Given the description of an element on the screen output the (x, y) to click on. 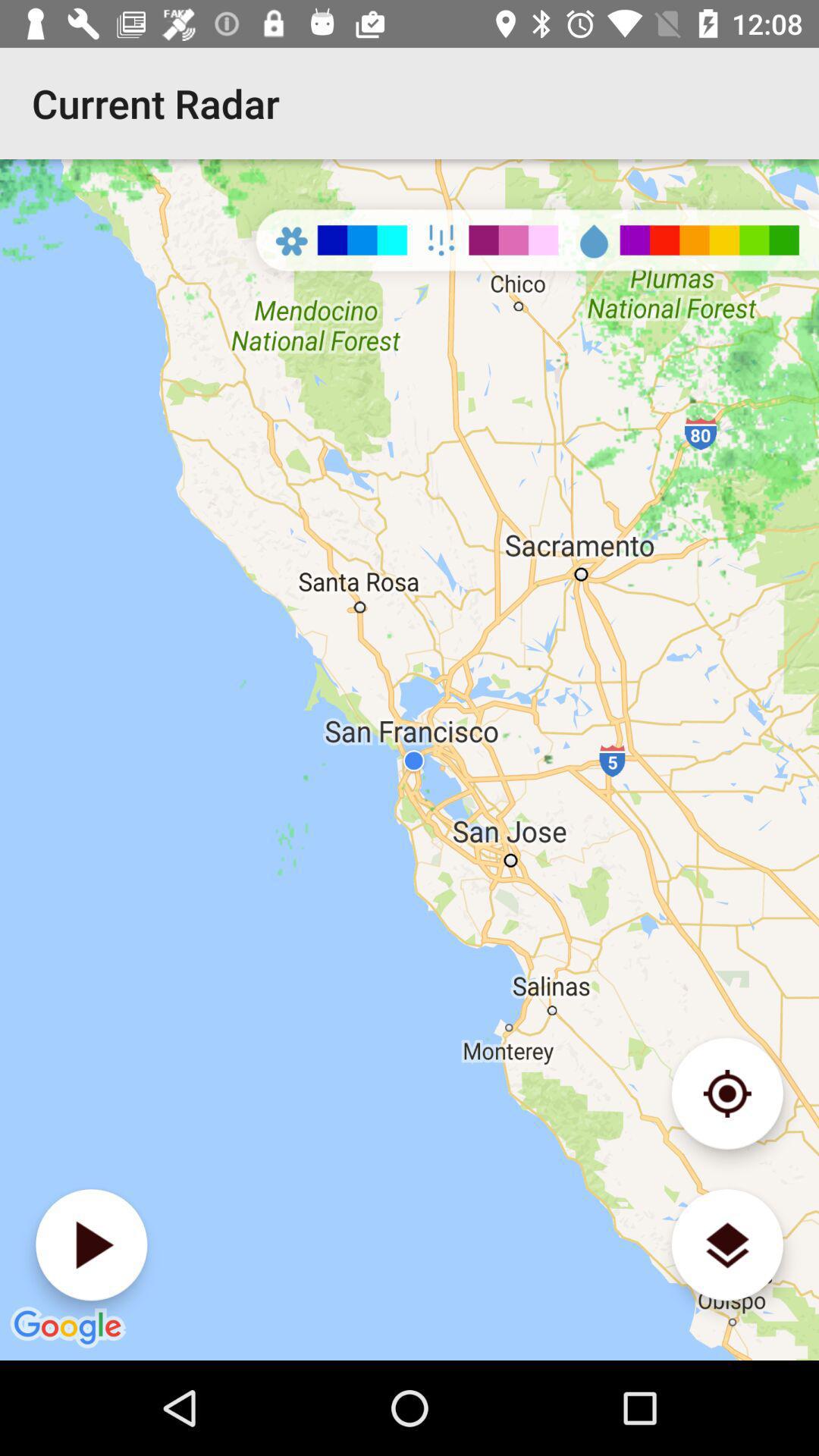
go to your location (727, 1093)
